Given the description of an element on the screen output the (x, y) to click on. 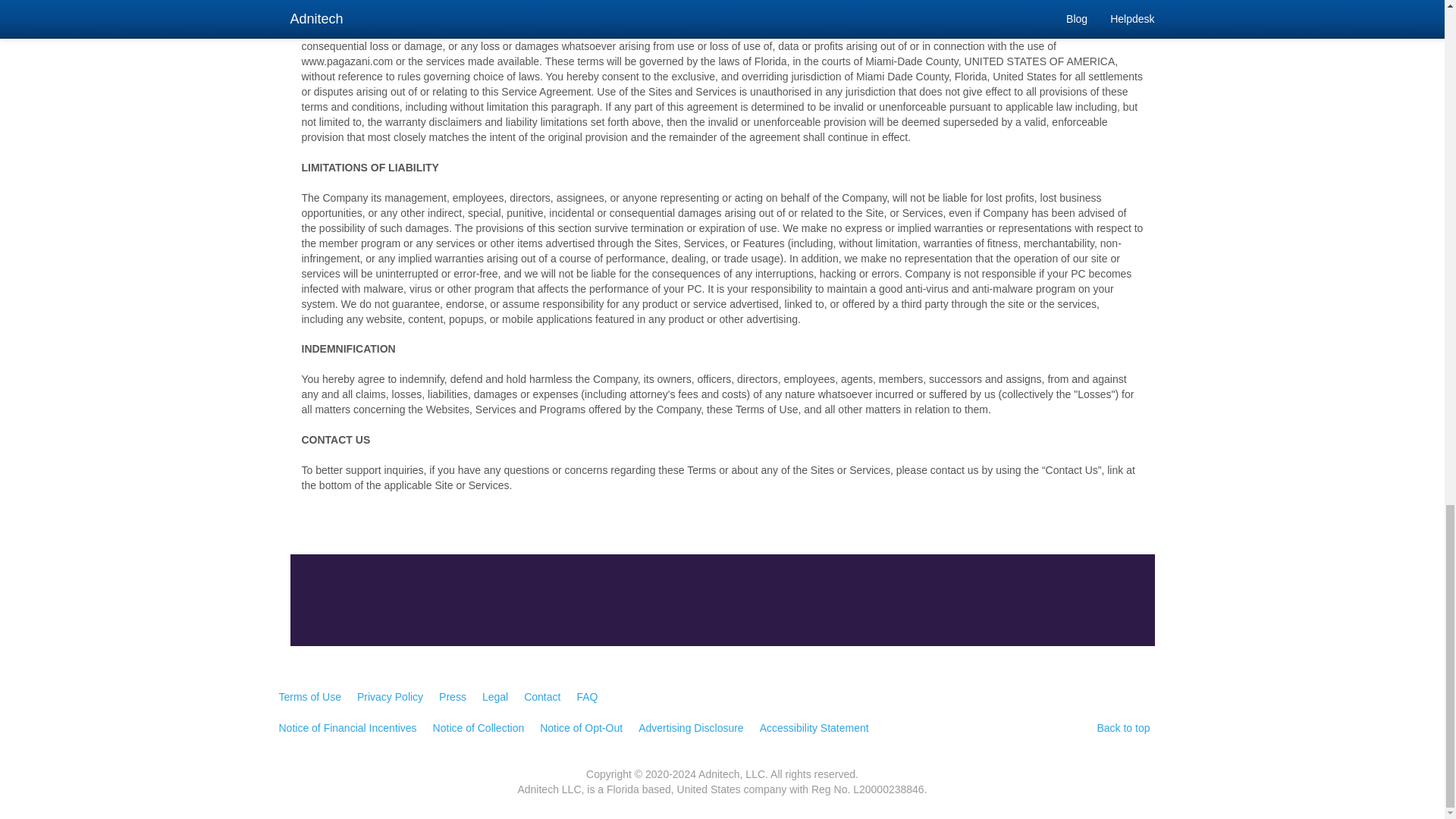
Advertising Disclosure (691, 728)
Legal (494, 697)
Terms of Use (309, 697)
Accessibility Statement (814, 728)
Notice of Opt-Out (581, 728)
Notice of Financial Incentives (347, 728)
Back to top (1123, 728)
Privacy Policy (389, 697)
Contact (542, 697)
Press (452, 697)
